Given the description of an element on the screen output the (x, y) to click on. 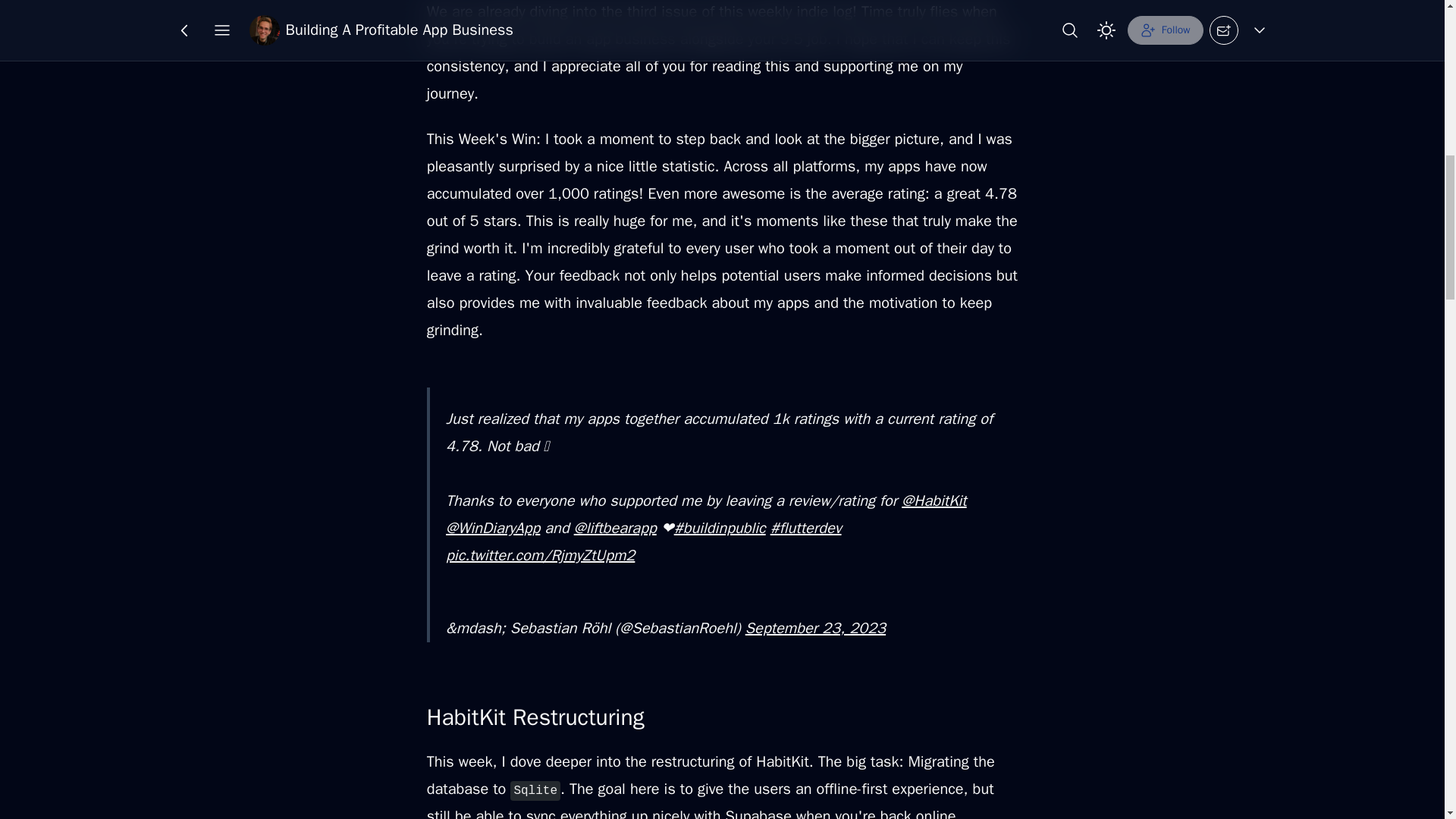
September 23, 2023 (815, 628)
Add Bookmark (728, 24)
Supabase (758, 812)
